Given the description of an element on the screen output the (x, y) to click on. 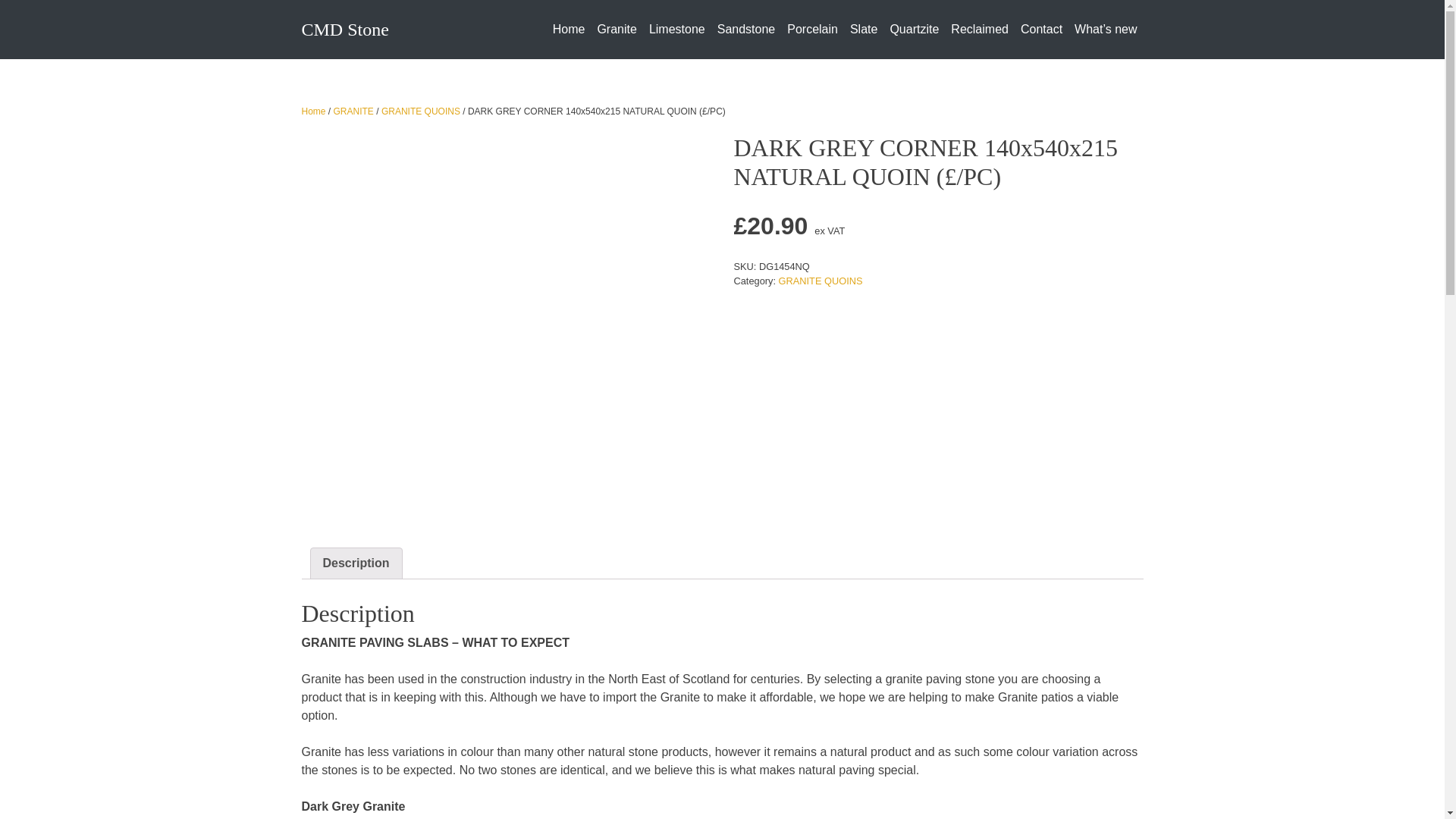
sandstone (746, 29)
reclaimed (979, 29)
slate (863, 29)
CMD Stone (344, 29)
GRANITE QUOINS (420, 111)
granite (616, 29)
home (569, 29)
porcelain (812, 29)
Description (356, 562)
GRANITE (353, 111)
